Given the description of an element on the screen output the (x, y) to click on. 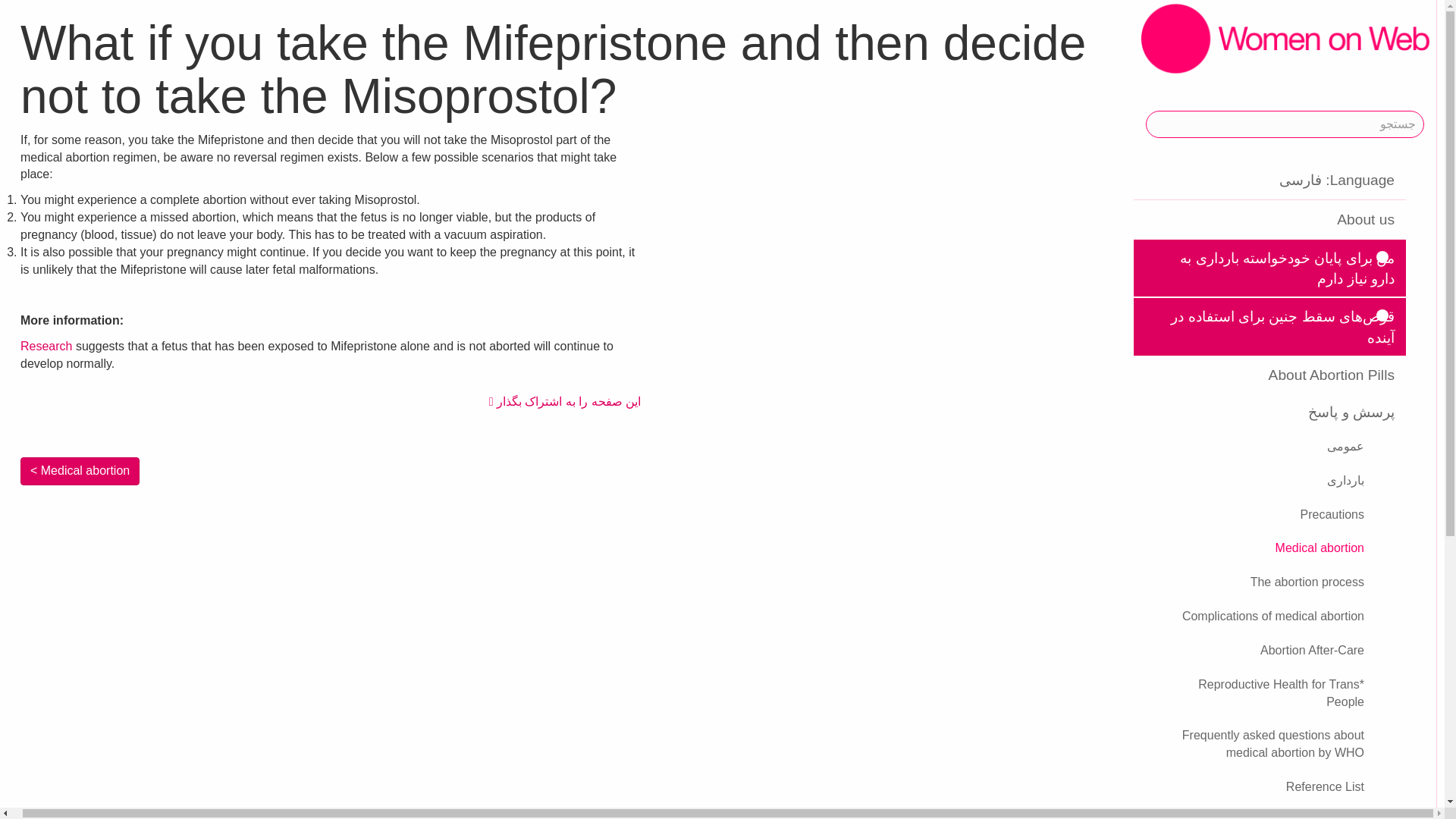
About us (1270, 219)
Precautions (1254, 514)
Complications of medical abortion (1254, 616)
About Abortion Pills (1270, 375)
Medical abortion (1254, 548)
Research (45, 345)
Abortion After-Care (1254, 650)
Frequently asked questions about medical abortion by WHO (1254, 744)
Reference List (1254, 787)
Misoprostol only (1254, 812)
The abortion process (1254, 582)
